Given the description of an element on the screen output the (x, y) to click on. 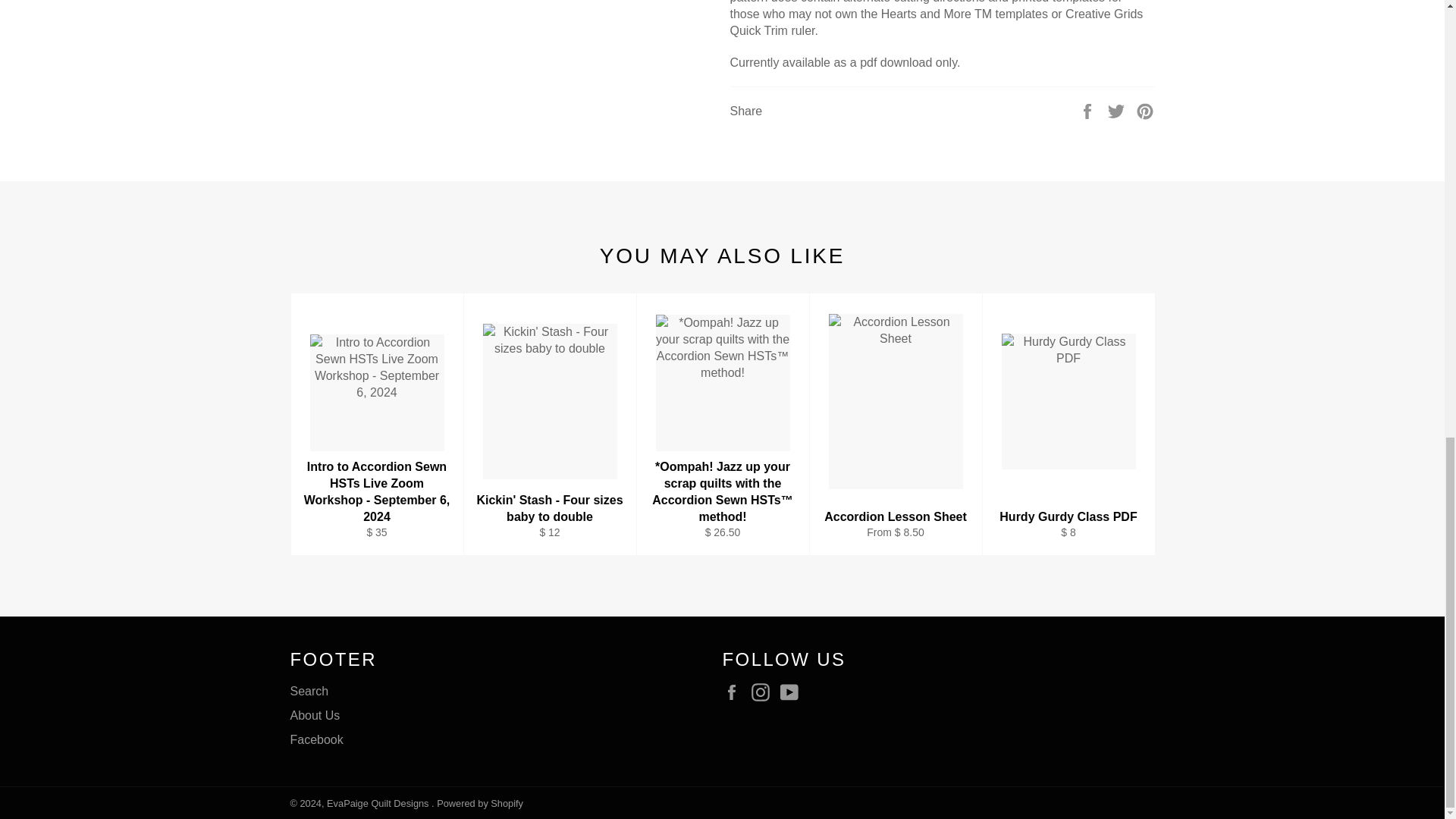
EvaPaige Quilt Designs  on Facebook (735, 692)
Share on Facebook (1088, 110)
Share on Facebook (1088, 110)
Tweet on Twitter (1117, 110)
EvaPaige Quilt Designs  on YouTube (793, 692)
Pin on Pinterest (1144, 110)
Tweet on Twitter (1117, 110)
EvaPaige Quilt Designs  on Instagram (764, 692)
Pin on Pinterest (1144, 110)
